Given the description of an element on the screen output the (x, y) to click on. 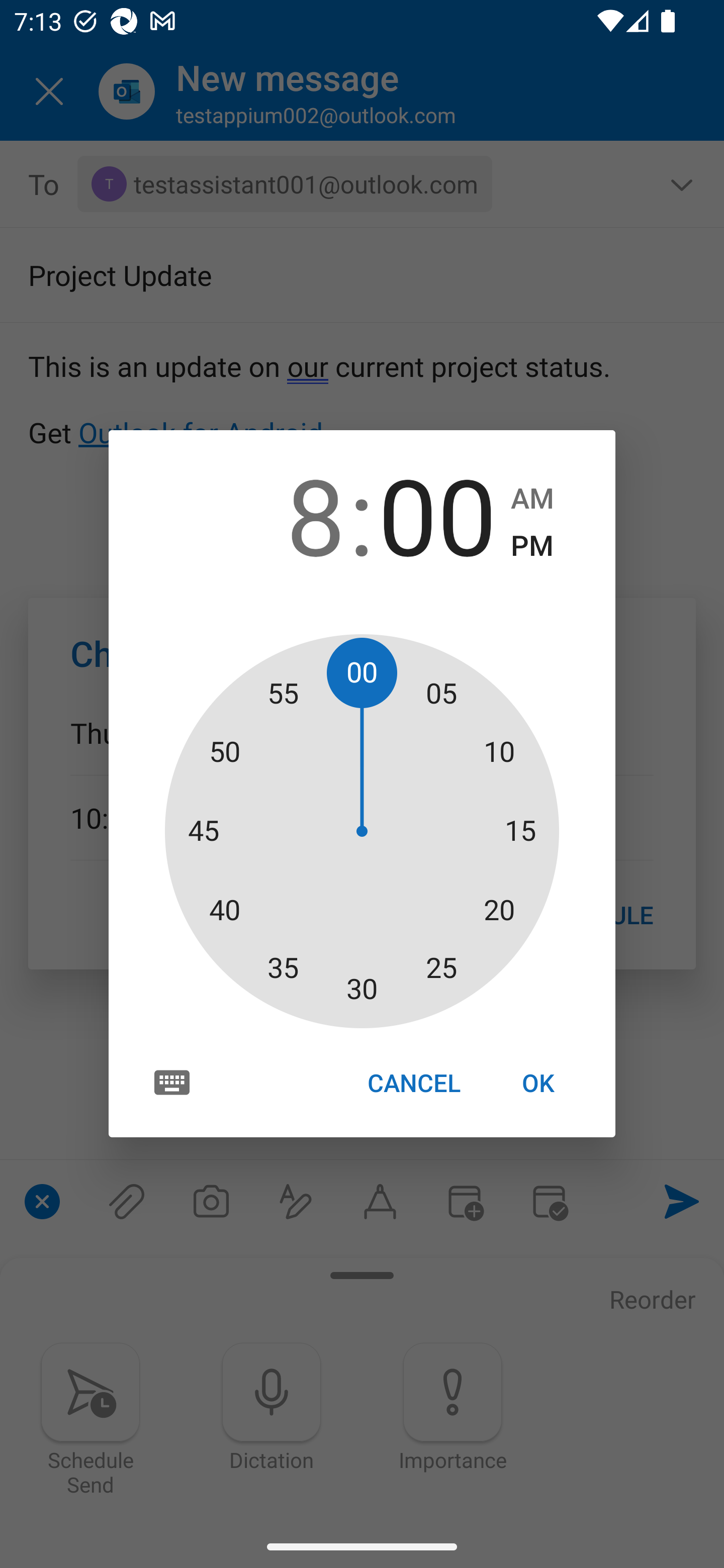
8 (285, 513)
00 (436, 513)
AM (532, 498)
PM (532, 546)
CANCEL (413, 1082)
OK (537, 1082)
Switch to text input mode for the time input. (171, 1081)
